Given the description of an element on the screen output the (x, y) to click on. 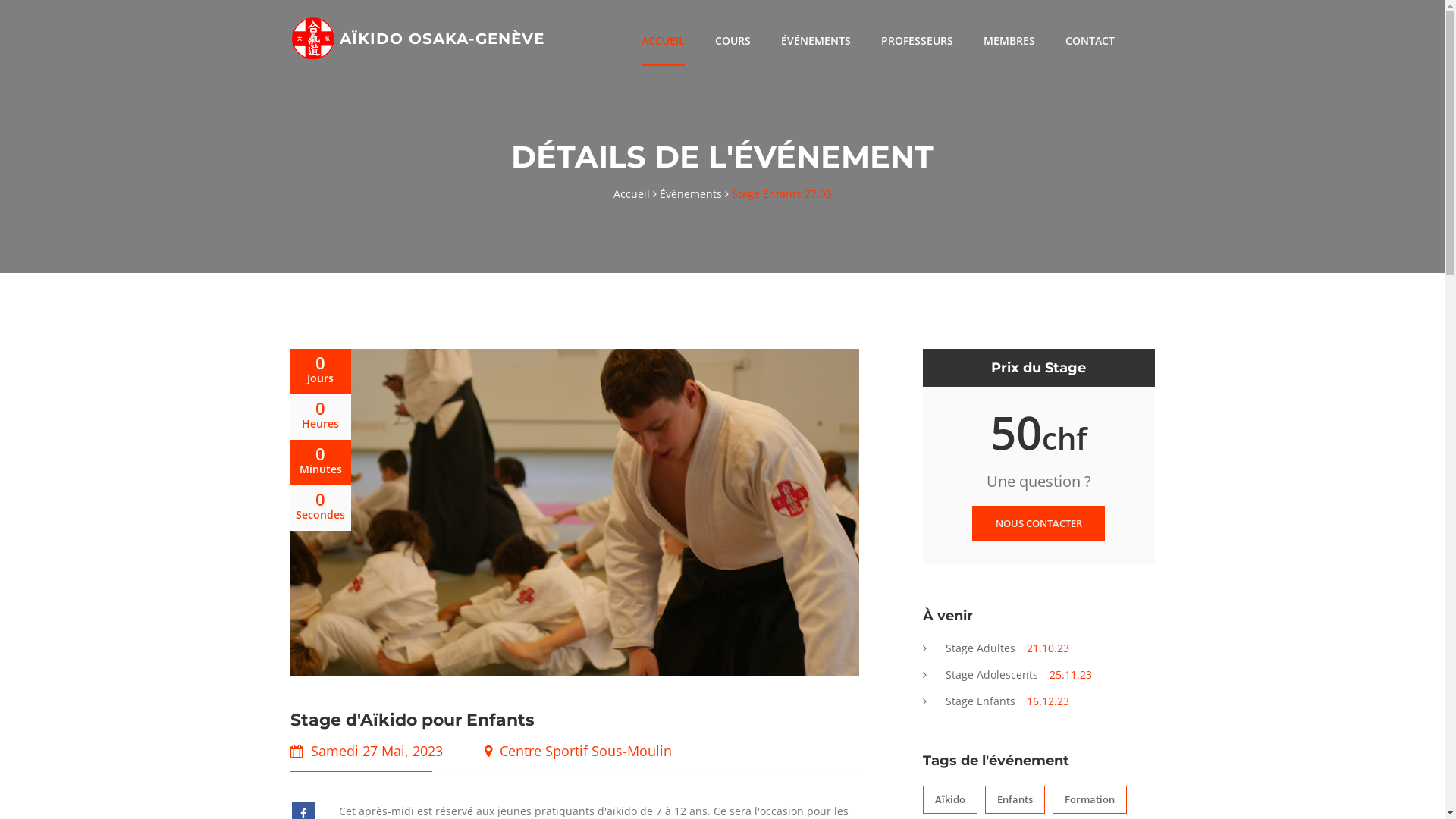
Stage Enfants16.12.23 Element type: text (995, 700)
ACCUEIL Element type: text (662, 40)
CONTACT Element type: text (1088, 40)
MEMBRES Element type: text (1008, 40)
Centre Sportif Sous-Moulin Element type: text (584, 750)
Stage Adolescents25.11.23 Element type: text (1006, 674)
Formation Element type: text (1089, 799)
Accueil Element type: text (633, 193)
COURS Element type: text (731, 40)
Enfants Element type: text (1014, 799)
NOUS CONTACTER Element type: text (1037, 523)
PROFESSEURS Element type: text (917, 40)
Stage Adultes21.10.23 Element type: text (995, 647)
Samedi 27 Mai, 2023 Element type: text (376, 750)
